Given the description of an element on the screen output the (x, y) to click on. 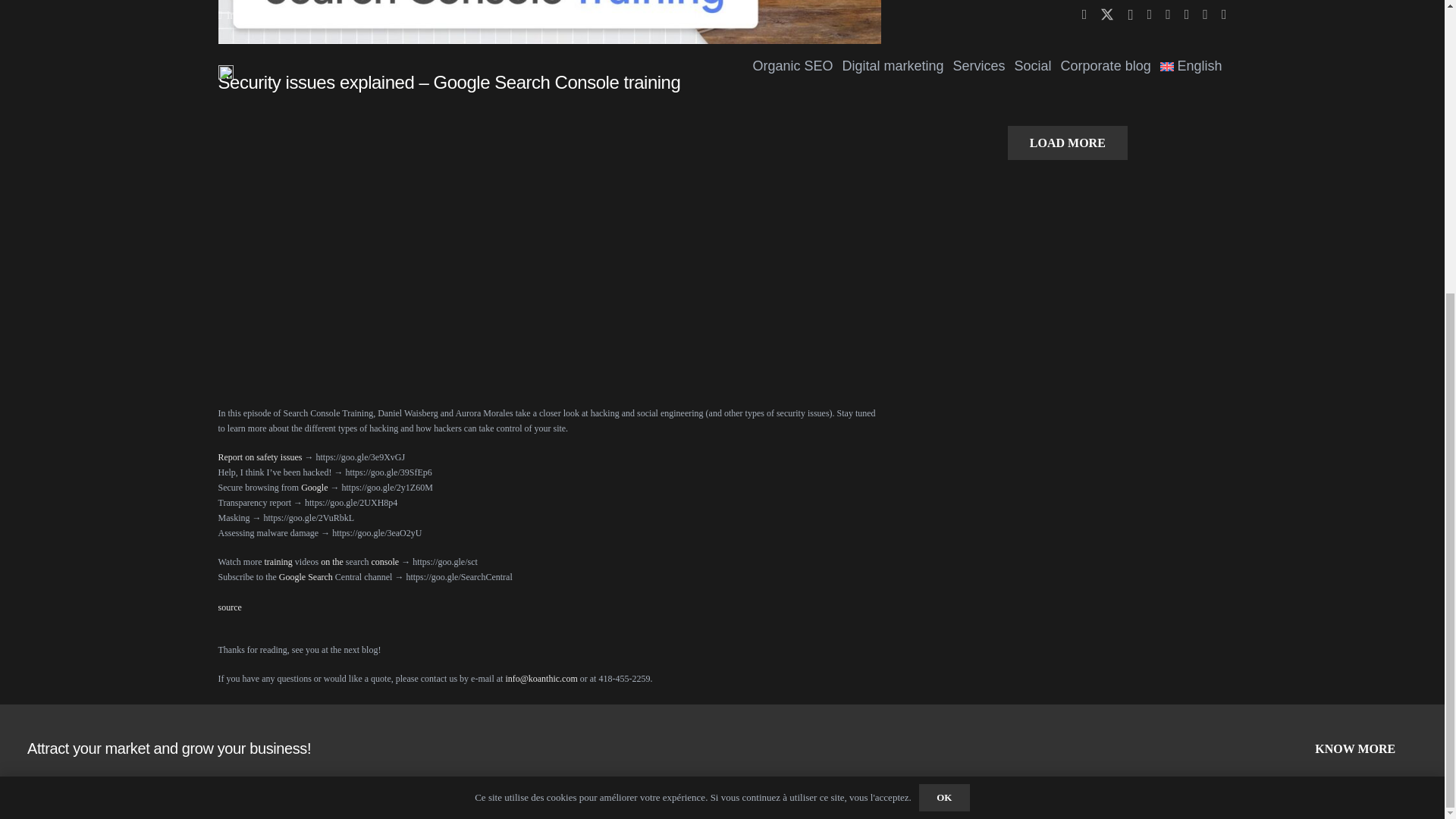
Google Search (306, 576)
on the (331, 561)
Security issues explained - Google Search Console training (550, 22)
Google (314, 487)
Report on safety issues (260, 457)
source (229, 606)
training (278, 561)
Security issues explained - Google Search Console Training (438, 239)
console (384, 561)
